Given the description of an element on the screen output the (x, y) to click on. 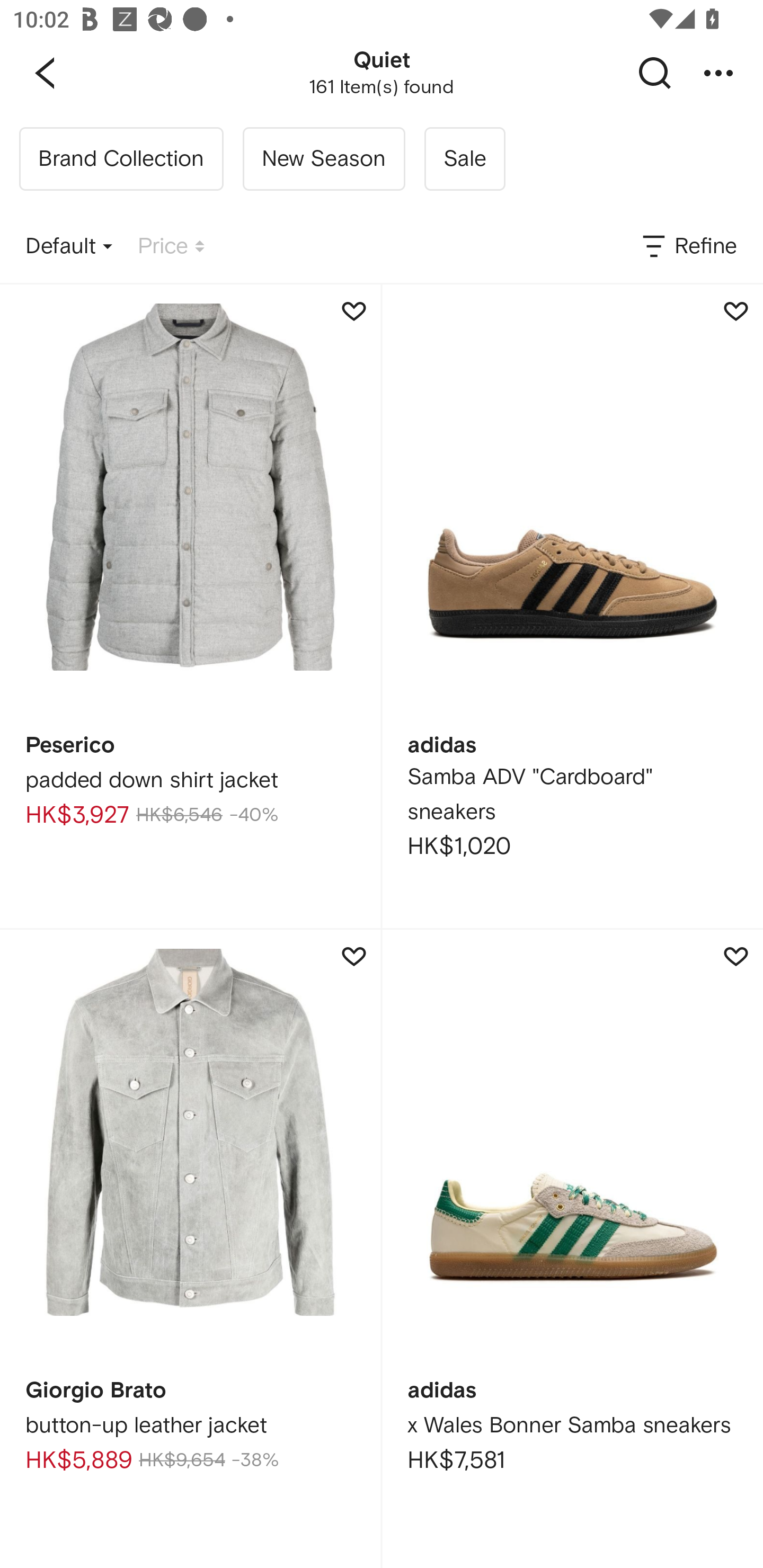
Brand Collection (121, 158)
New Season (323, 158)
Sale (464, 158)
Default (68, 246)
Price (171, 246)
Refine (688, 246)
adidas Samba ADV "Cardboard" sneakers HK$1,020 (572, 605)
adidas x Wales Bonner Samba sneakers HK$7,581 (572, 1248)
